Given the description of an element on the screen output the (x, y) to click on. 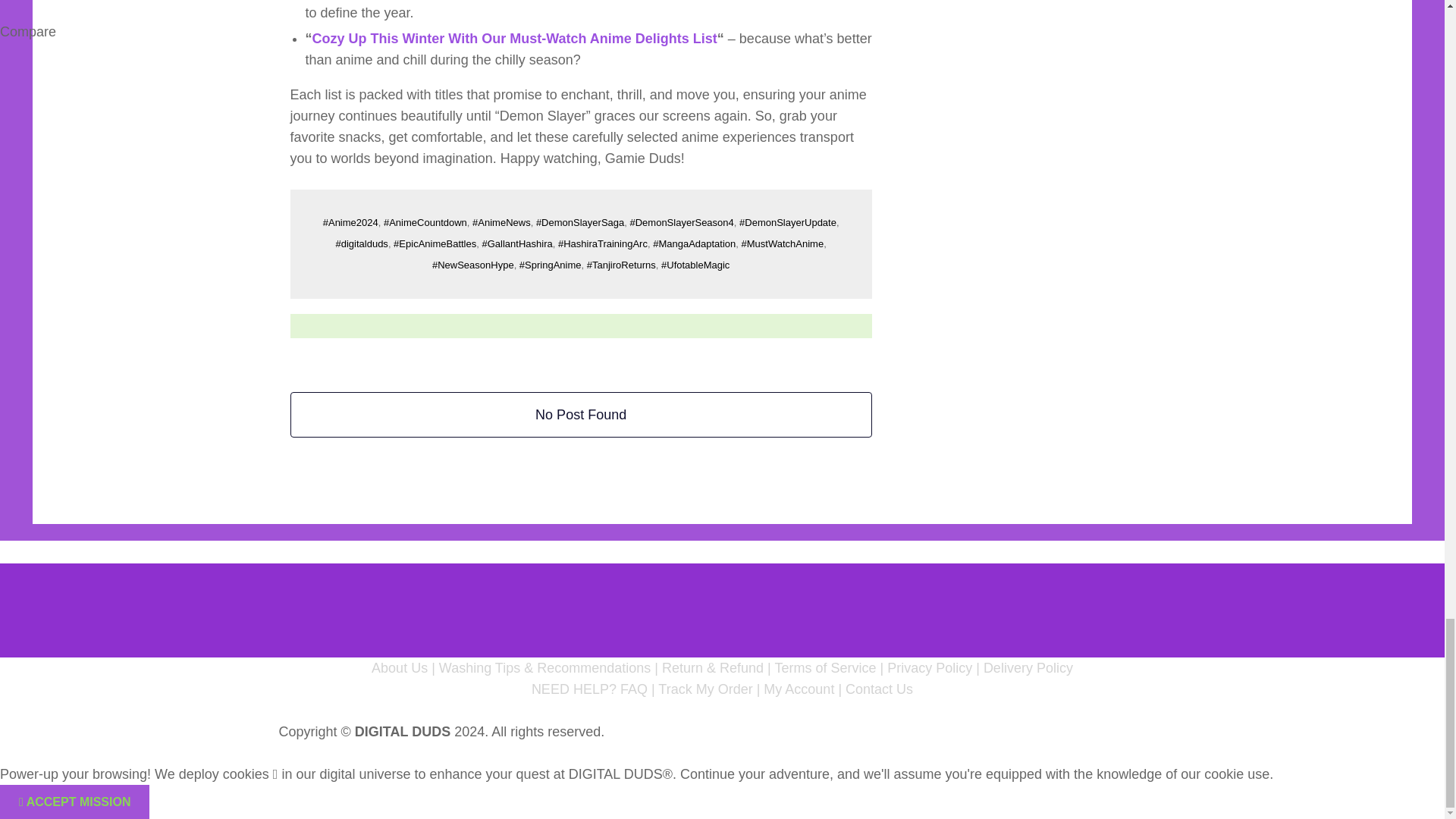
Cozy Up This Winter With Our Must-Watch Anime Delights List (515, 38)
